Given the description of an element on the screen output the (x, y) to click on. 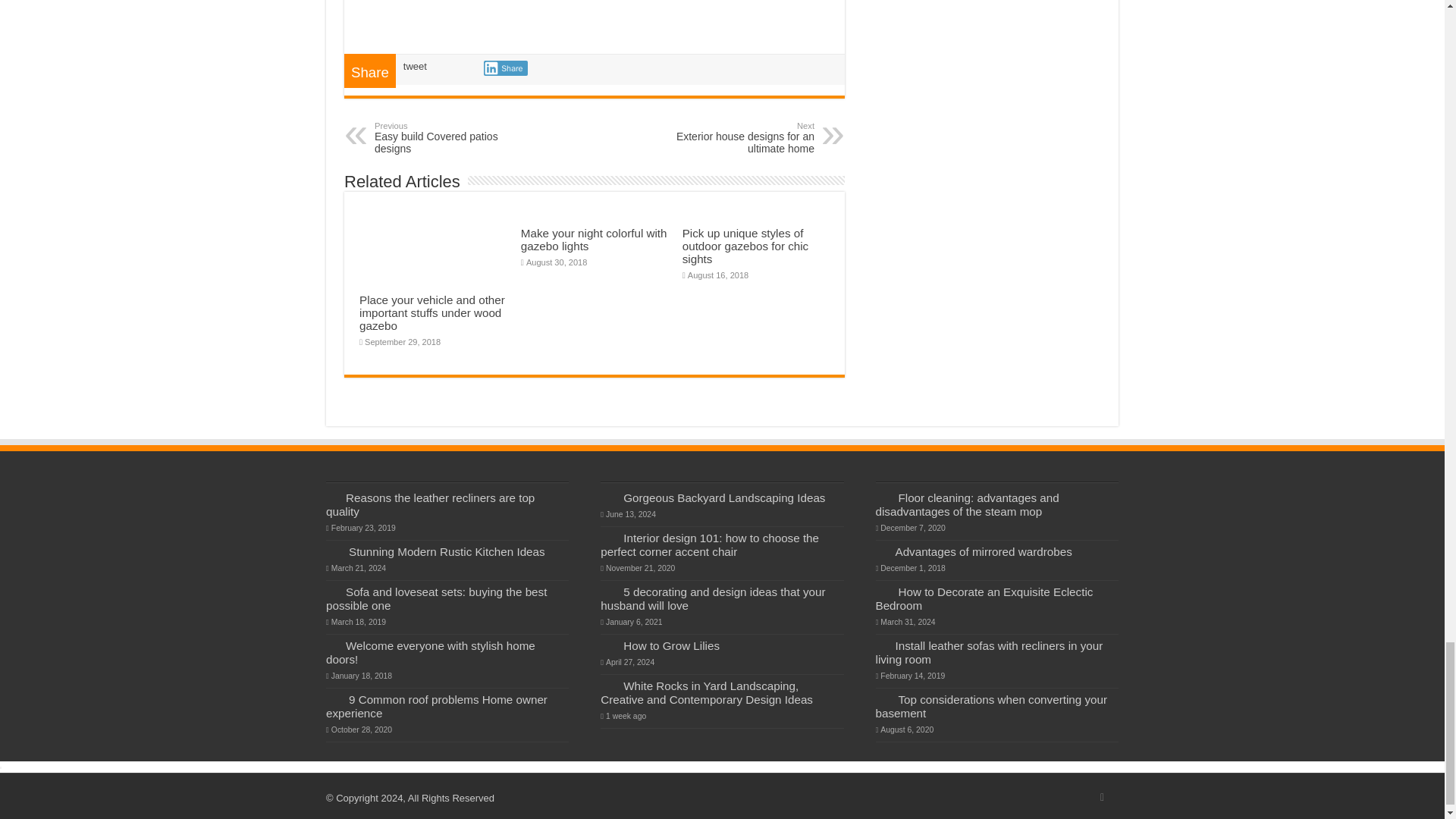
Share (505, 68)
tweet (451, 137)
